Given the description of an element on the screen output the (x, y) to click on. 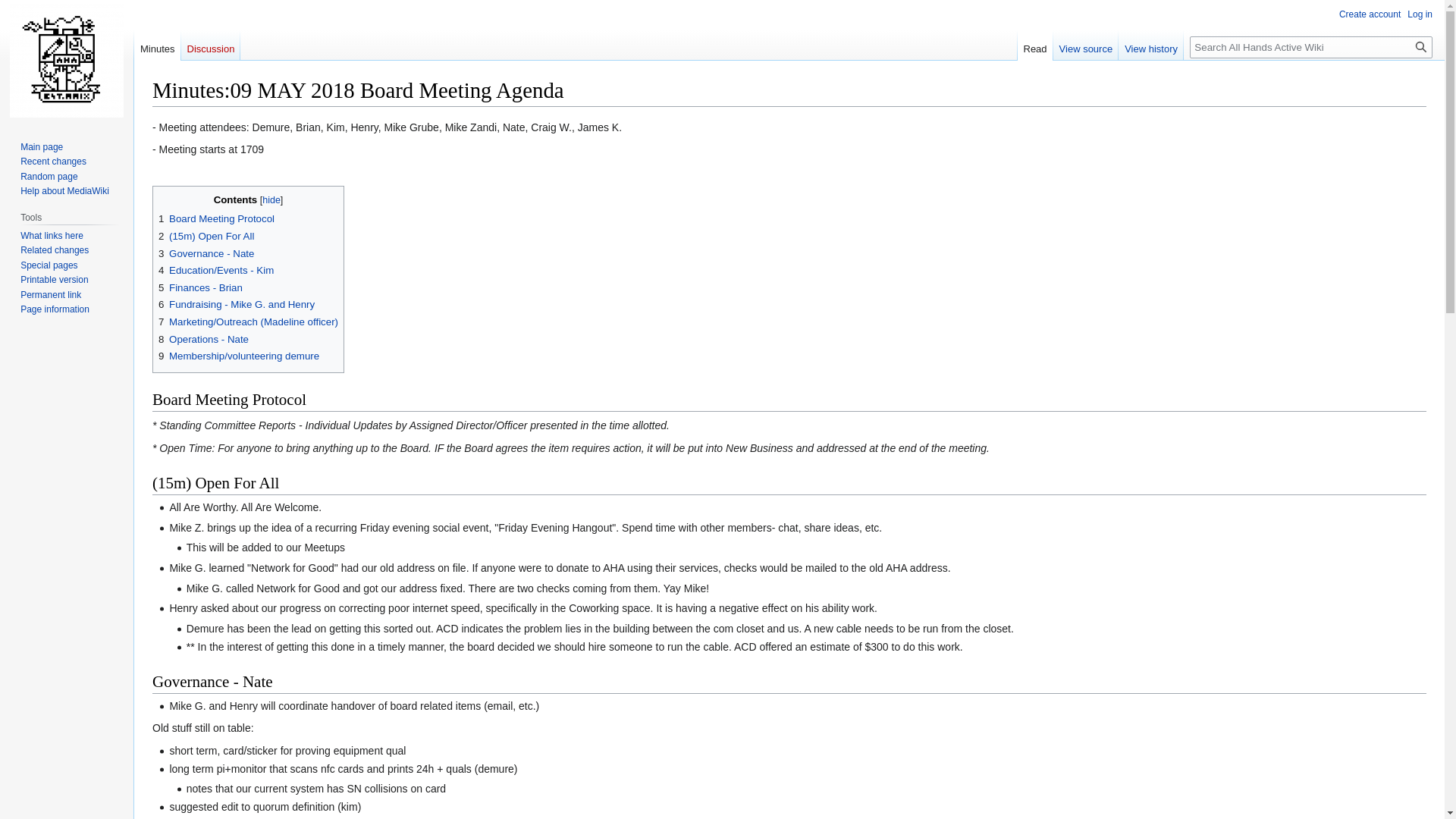
3 Governance - Nate (205, 253)
Search the pages for this text (1420, 46)
Read (1034, 45)
Printable version (53, 279)
Page information (54, 308)
8 Operations - Nate (203, 338)
Log in (1419, 14)
Related changes (54, 249)
Search (1420, 46)
Visit the main page (66, 60)
